Given the description of an element on the screen output the (x, y) to click on. 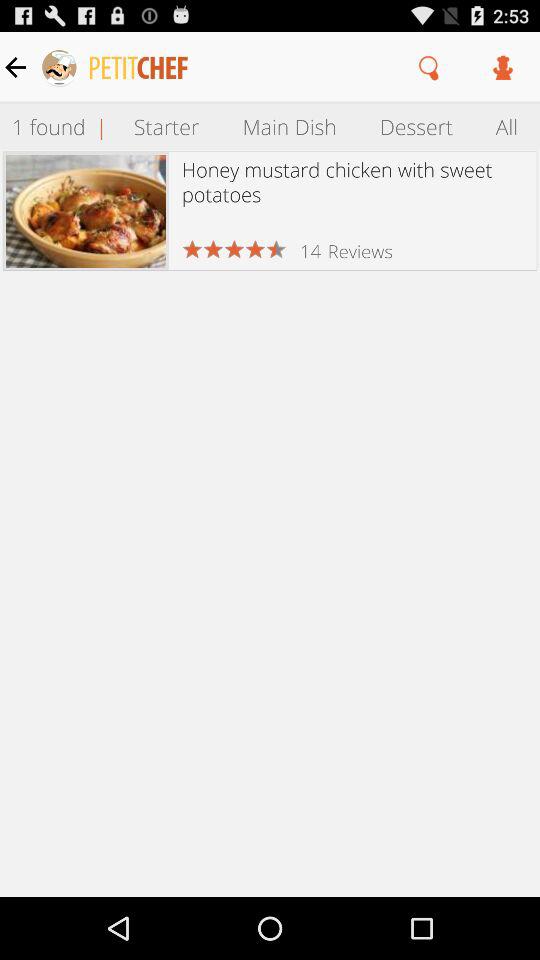
select item to the right of 14 (360, 250)
